Given the description of an element on the screen output the (x, y) to click on. 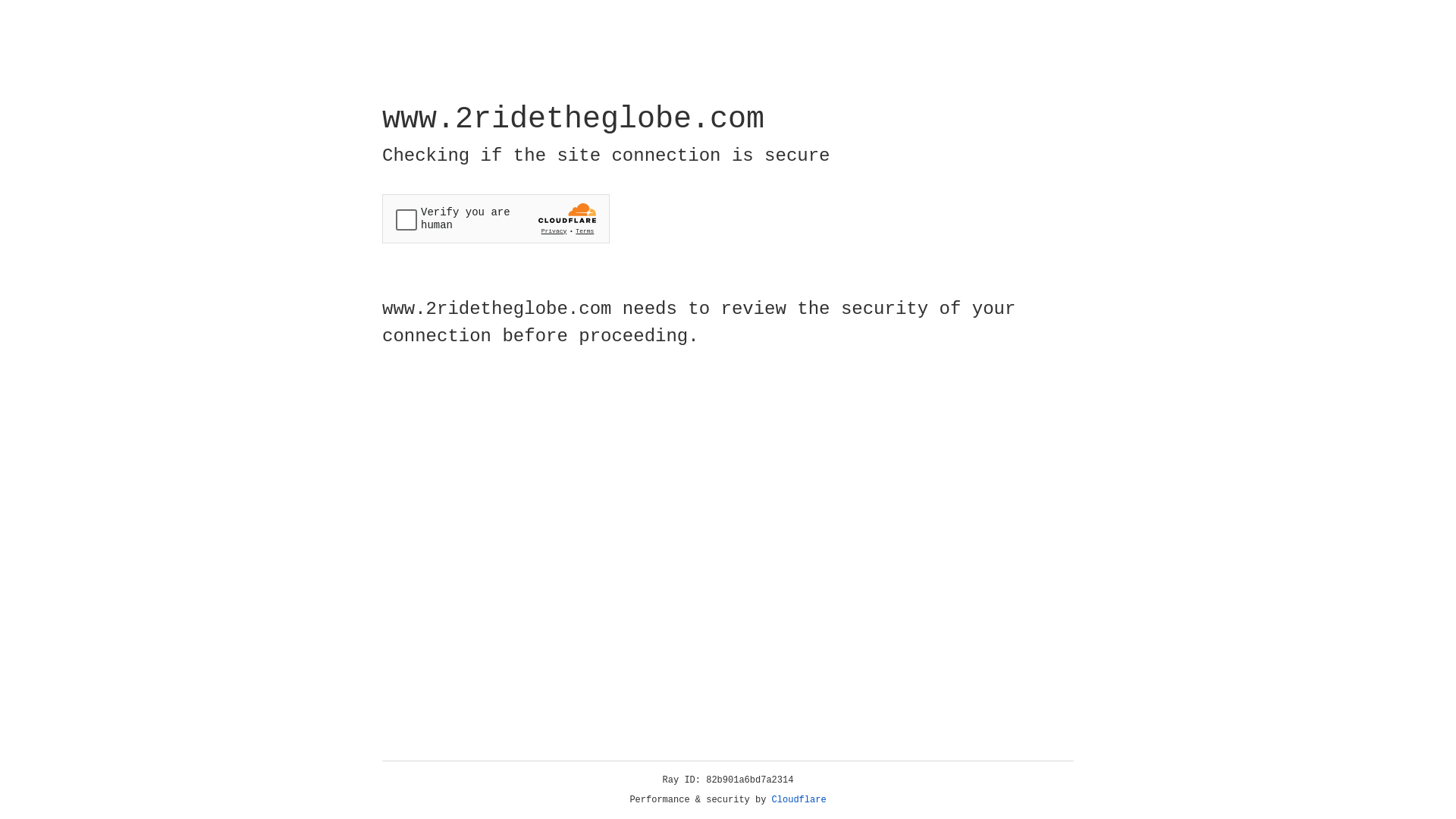
Widget containing a Cloudflare security challenge Element type: hover (495, 218)
Cloudflare Element type: text (798, 799)
